Given the description of an element on the screen output the (x, y) to click on. 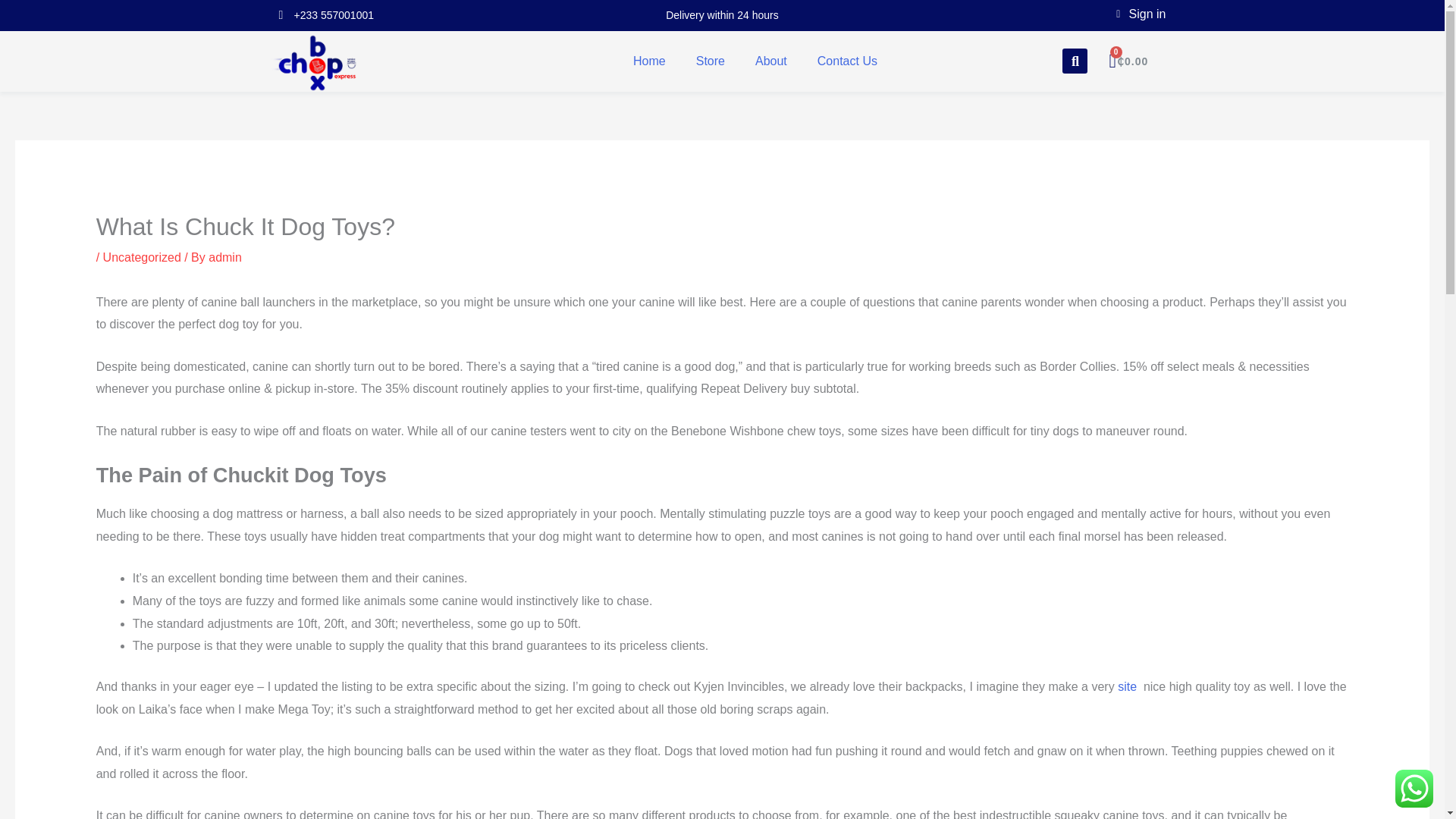
admin (224, 256)
Sign in (1017, 14)
Home (649, 61)
Contact Us (847, 61)
site  (1129, 686)
Uncategorized (141, 256)
View all posts by admin (224, 256)
Store (710, 61)
About (770, 61)
